Given the description of an element on the screen output the (x, y) to click on. 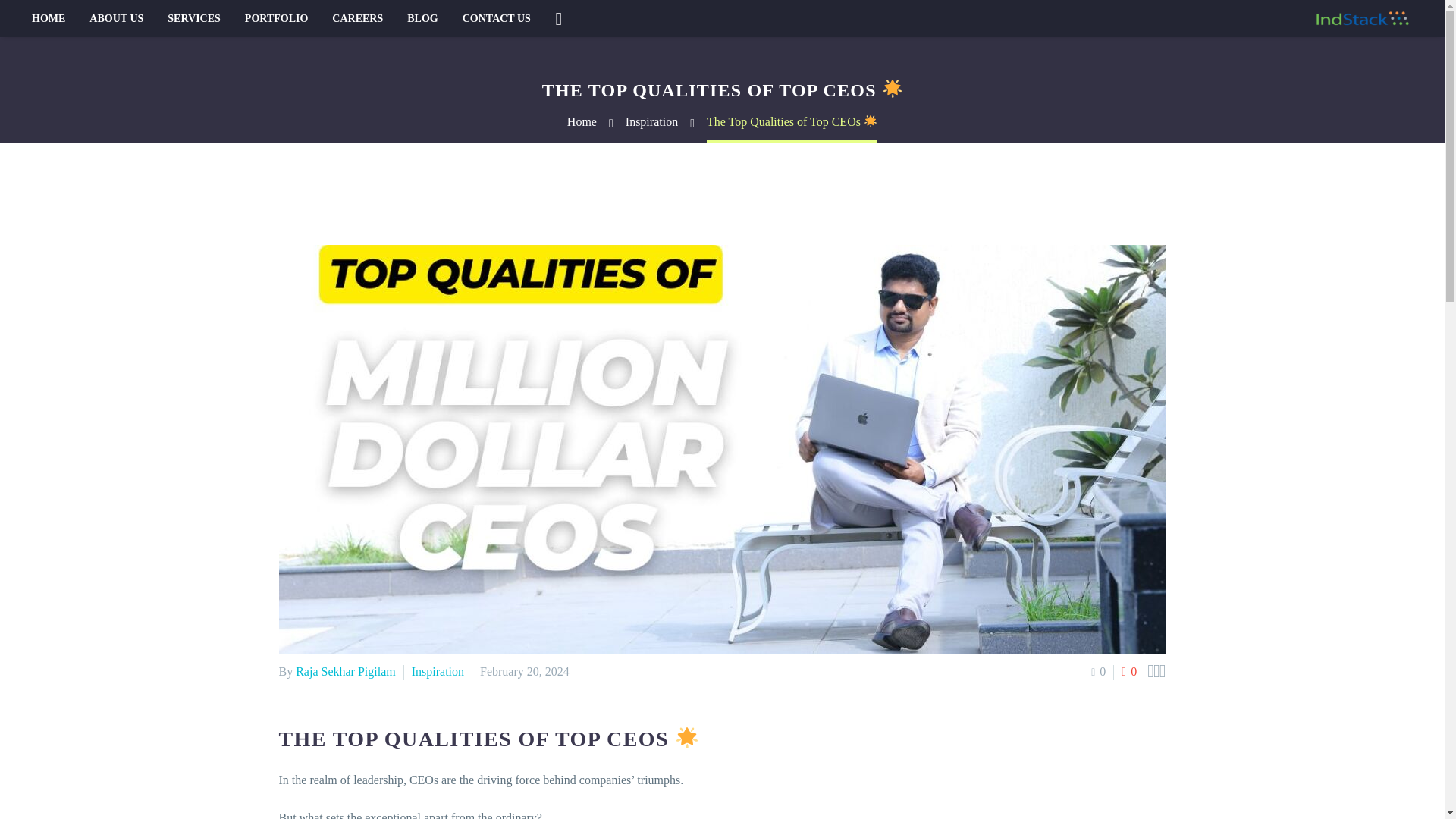
PORTFOLIO (276, 18)
CAREERS (357, 18)
View all posts in Inspiration (438, 671)
BLOG (421, 18)
ABOUT US (116, 18)
CONTACT US (496, 18)
SERVICES (193, 18)
HOME (48, 18)
